Given the description of an element on the screen output the (x, y) to click on. 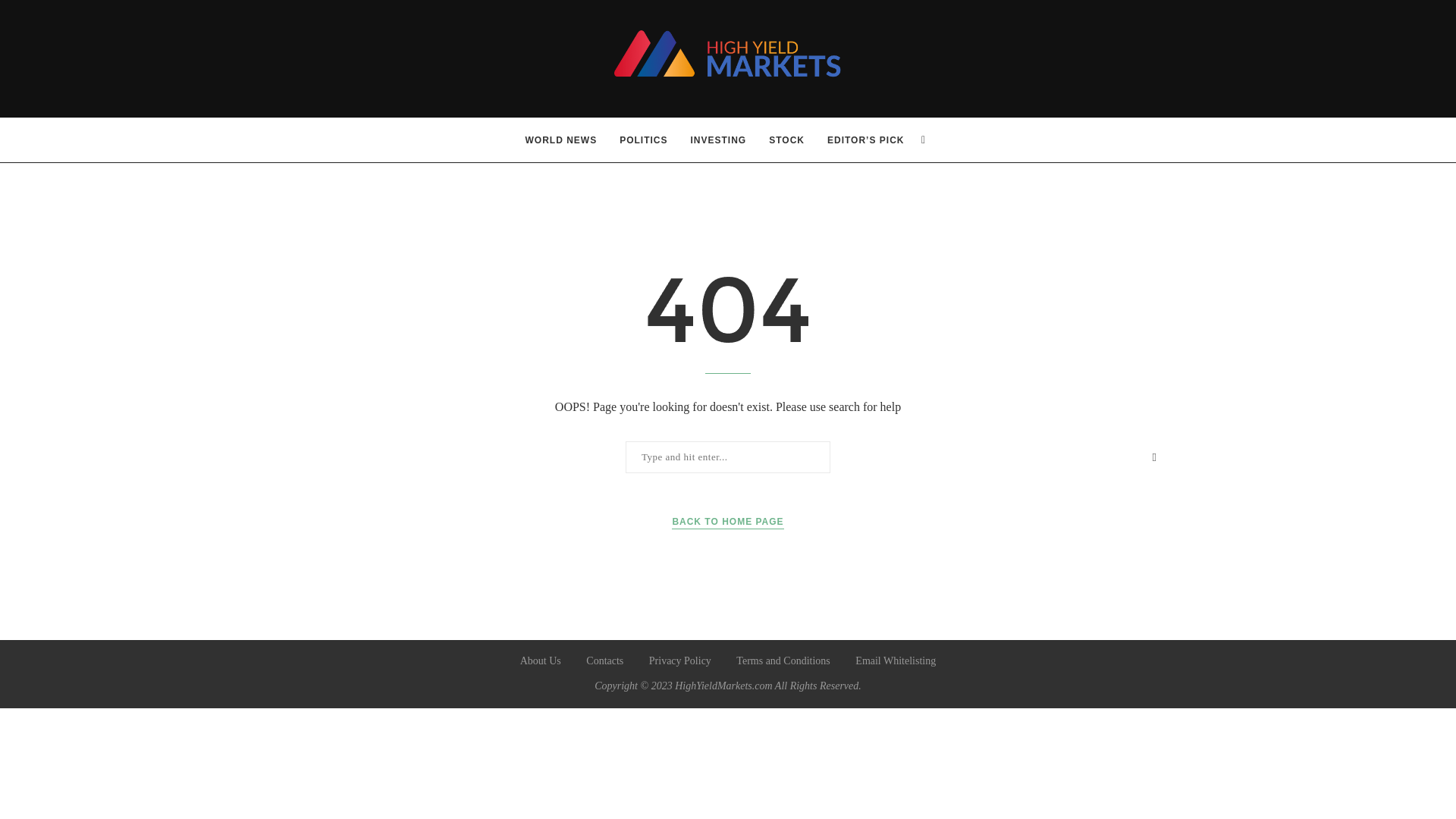
Privacy Policy (680, 660)
BACK TO HOME PAGE (727, 522)
INVESTING (718, 139)
POLITICS (643, 139)
Contacts (604, 660)
Terms and Conditions (782, 660)
Email Whitelisting (896, 660)
WORLD NEWS (560, 139)
About Us (539, 660)
